Given the description of an element on the screen output the (x, y) to click on. 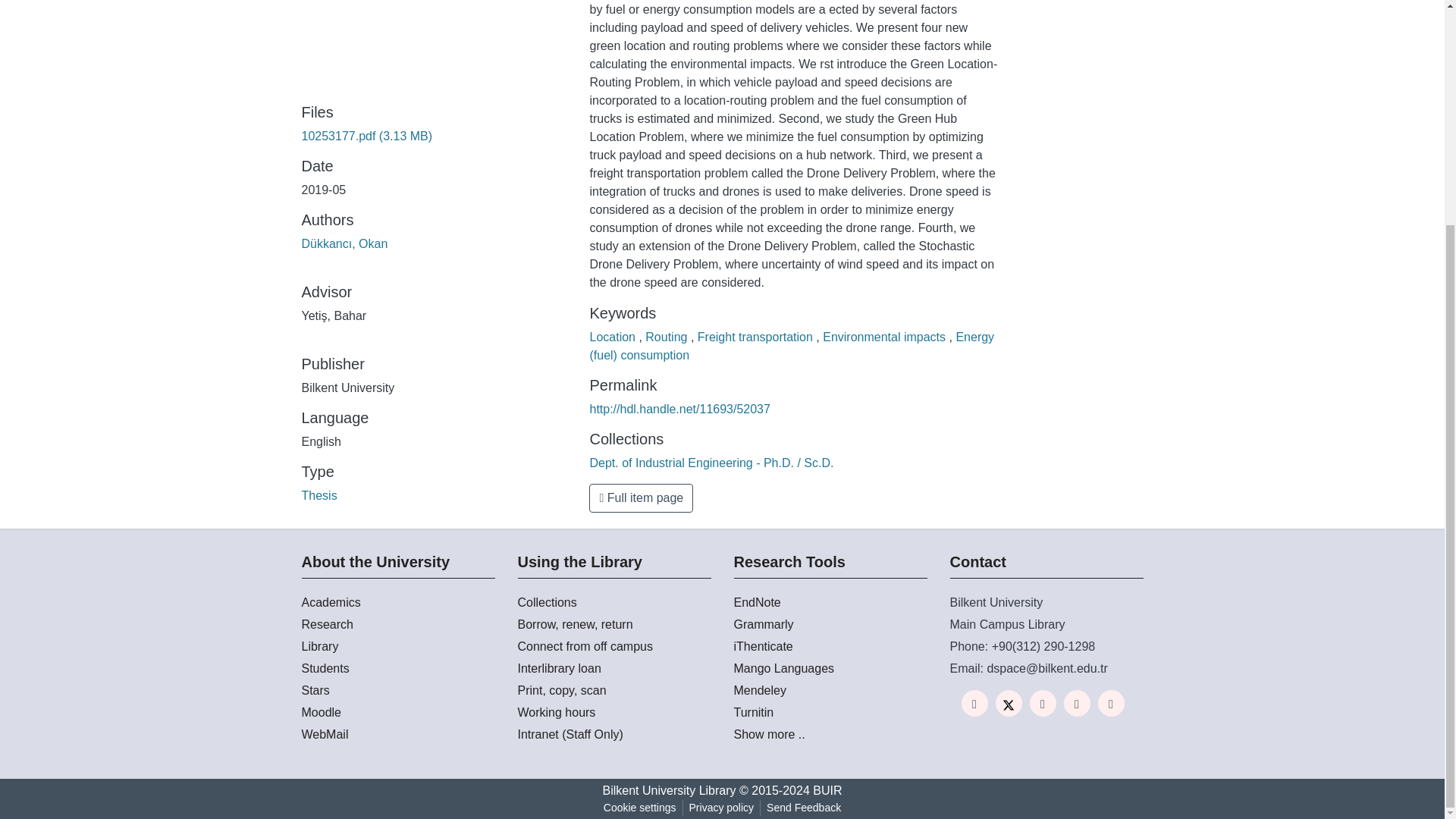
Freight transportation (756, 336)
WebMail (398, 734)
Stars (398, 690)
Location (614, 336)
Research (398, 624)
Routing (667, 336)
Full item page (641, 498)
Environmental impacts (885, 336)
Academics (398, 602)
Moodle (398, 712)
Students (398, 669)
Thesis (319, 495)
Library (398, 647)
